Given the description of an element on the screen output the (x, y) to click on. 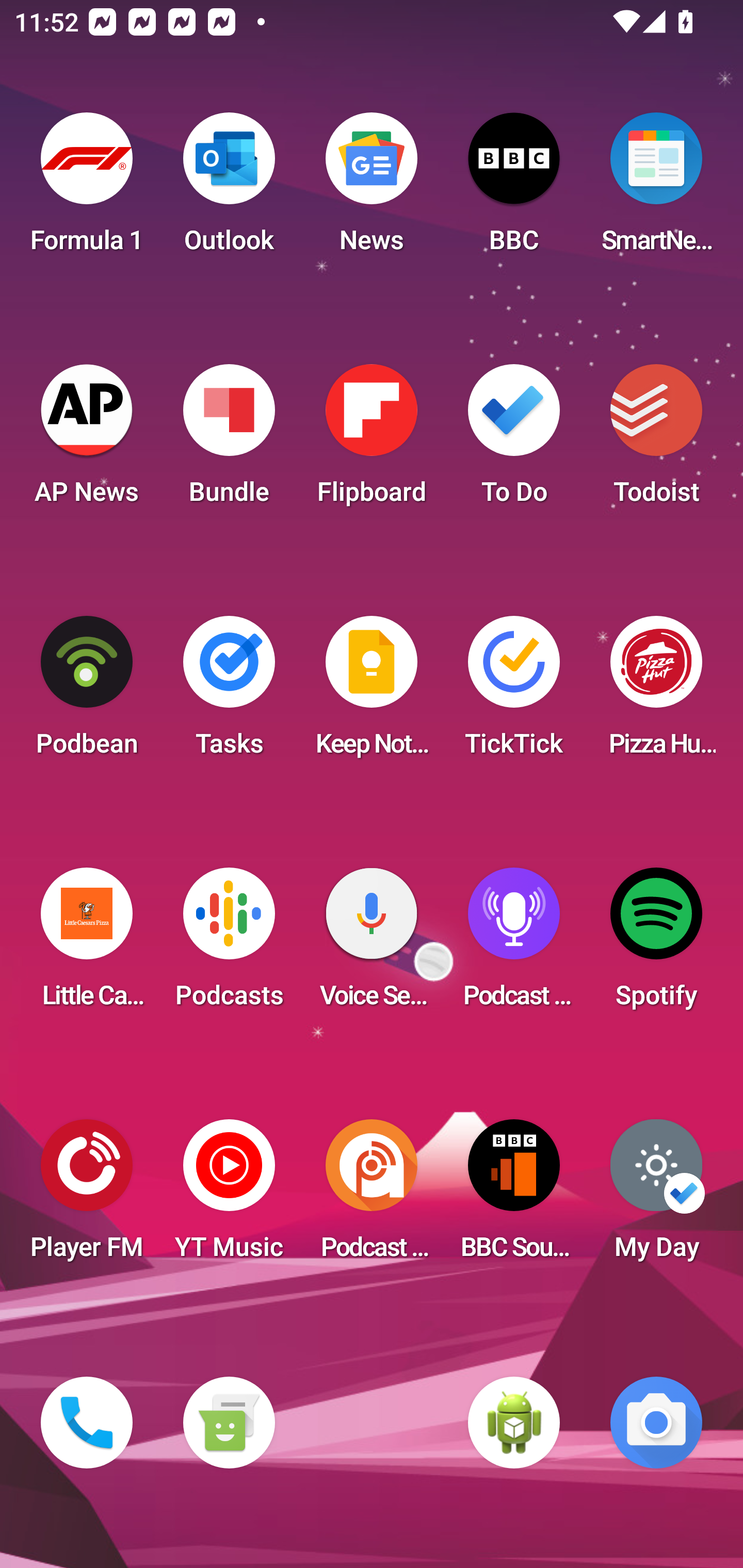
Formula 1 (86, 188)
Outlook (228, 188)
News (371, 188)
BBC (513, 188)
SmartNews (656, 188)
AP News (86, 440)
Bundle (228, 440)
Flipboard (371, 440)
To Do (513, 440)
Todoist (656, 440)
Podbean (86, 692)
Tasks (228, 692)
Keep Notes (371, 692)
TickTick (513, 692)
Pizza Hut HK & Macau (656, 692)
Little Caesars Pizza (86, 943)
Podcasts (228, 943)
Voice Search (371, 943)
Podcast Player (513, 943)
Spotify (656, 943)
Player FM (86, 1195)
YT Music (228, 1195)
Podcast Addict (371, 1195)
BBC Sounds (513, 1195)
My Day (656, 1195)
Phone (86, 1422)
Messaging (228, 1422)
WebView Browser Tester (513, 1422)
Camera (656, 1422)
